Given the description of an element on the screen output the (x, y) to click on. 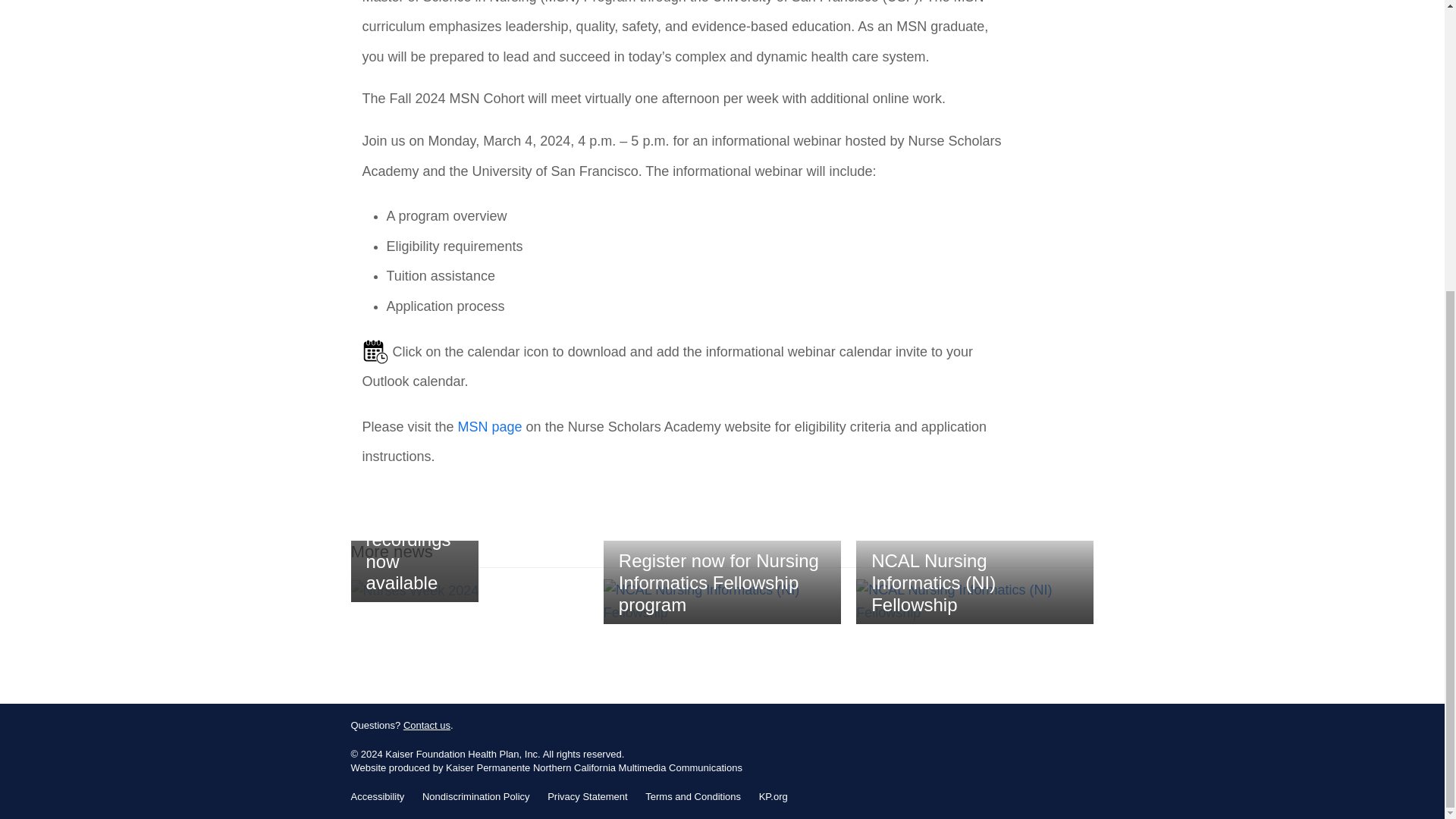
MSN page (490, 426)
Register now for Nursing Informatics Fellowship program (722, 600)
